Given the description of an element on the screen output the (x, y) to click on. 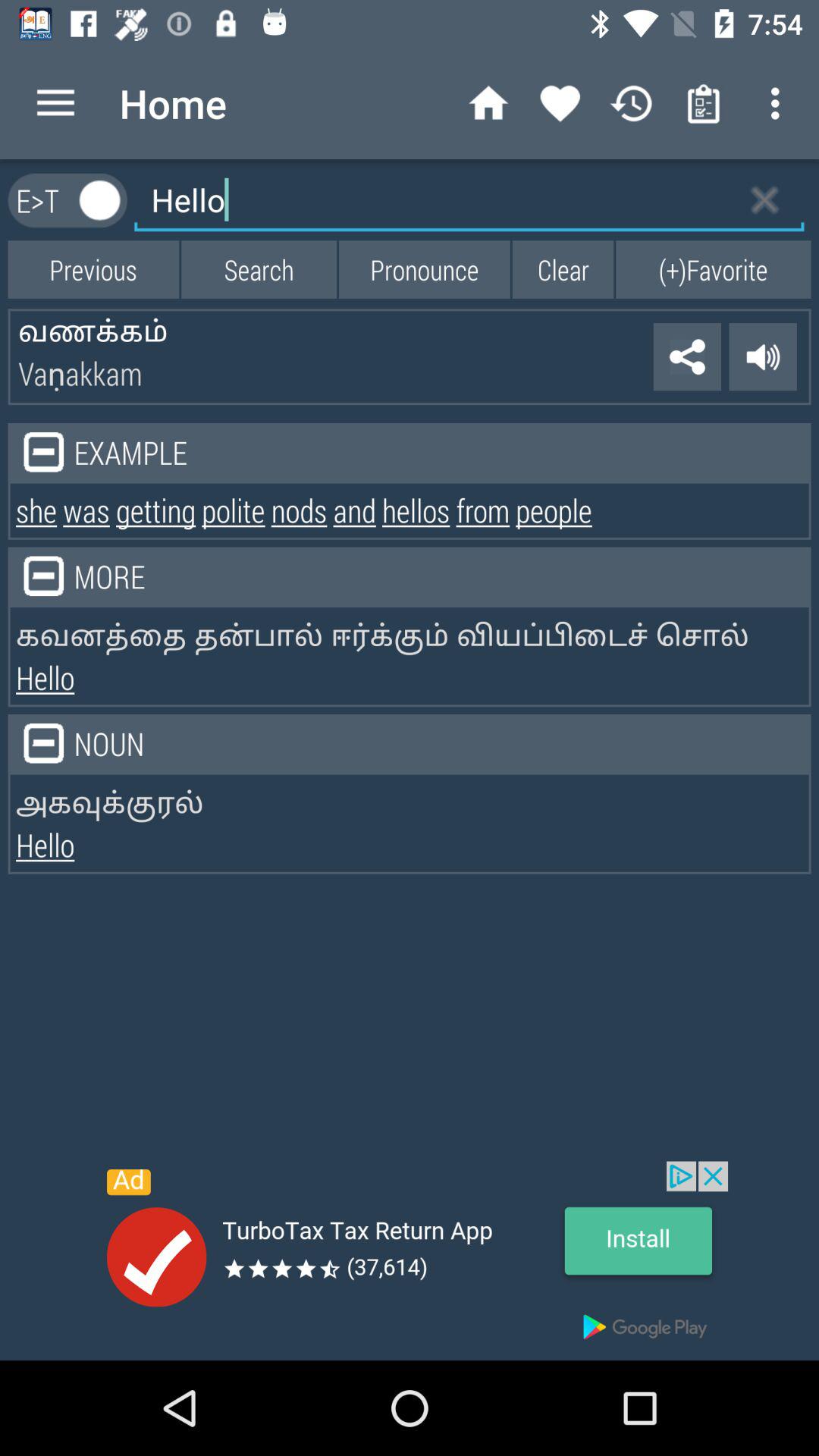
advertisement (409, 1260)
